Given the description of an element on the screen output the (x, y) to click on. 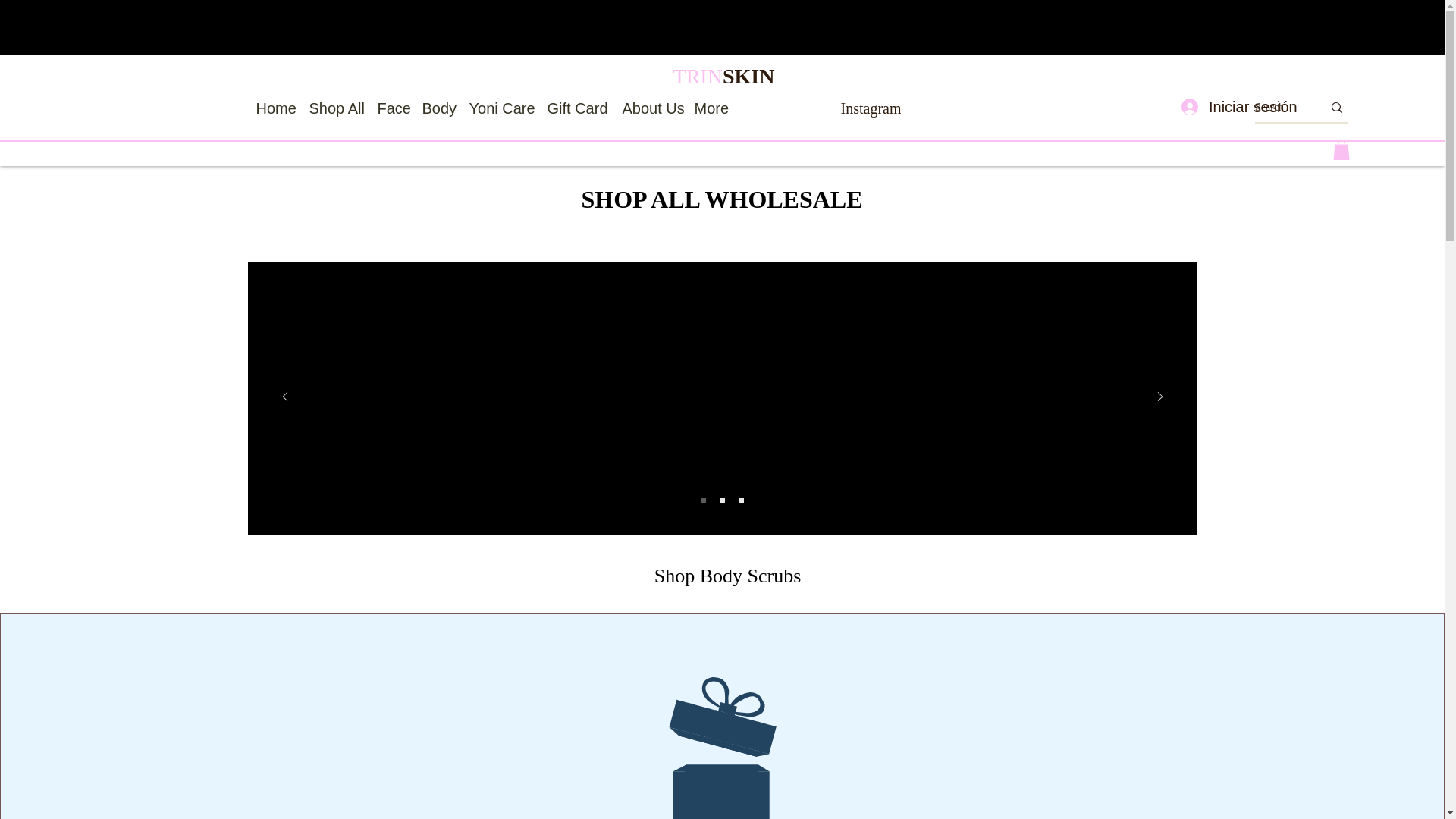
TRINSKIN (723, 75)
Instagram (871, 108)
Home (274, 108)
Body (437, 108)
Yoni Care (499, 108)
Face (391, 108)
Shop All (335, 108)
Gift Card (577, 108)
About Us (649, 108)
